Given the description of an element on the screen output the (x, y) to click on. 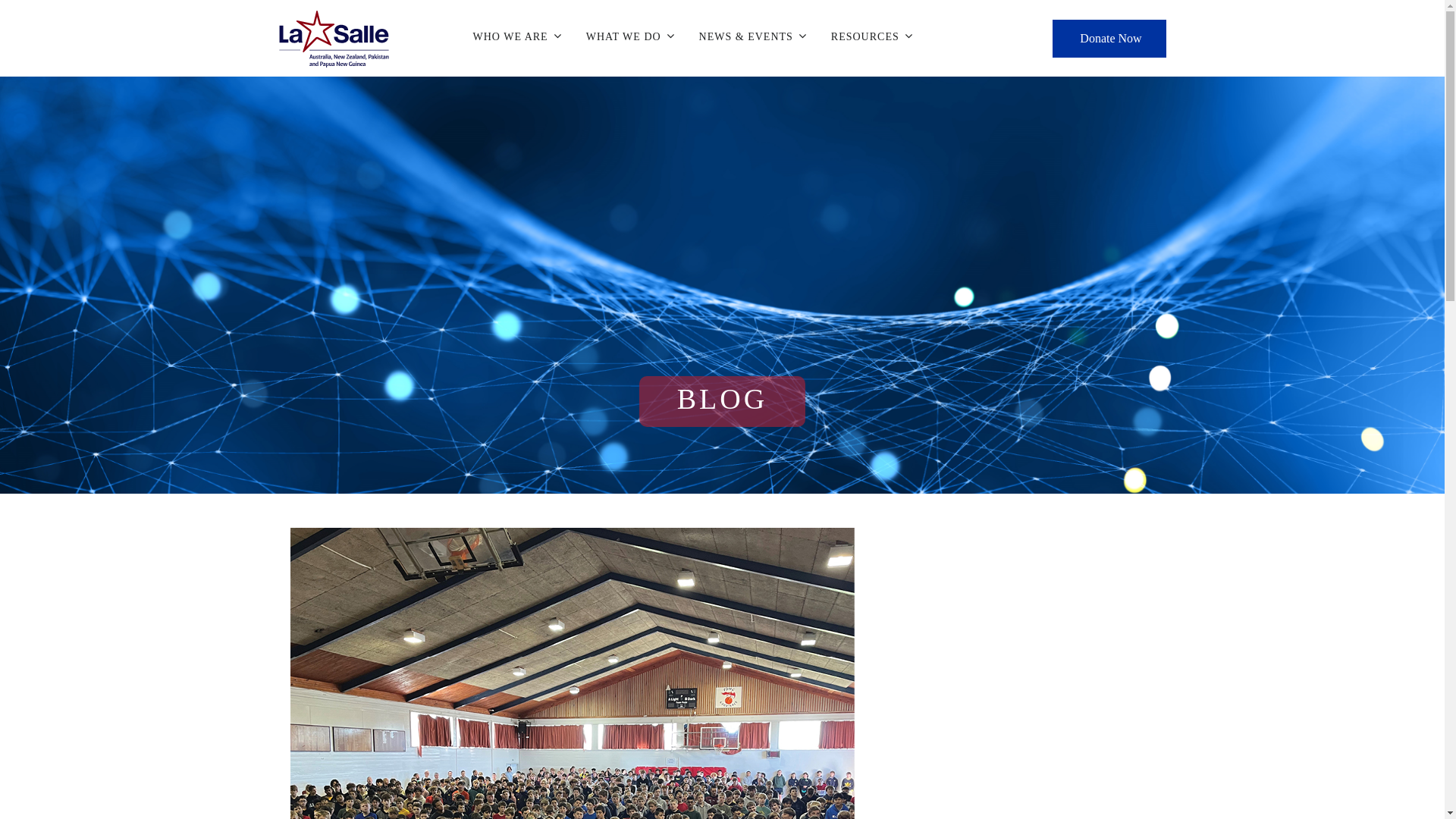
RESOURCES Element type: text (871, 33)
Donate Now Element type: text (1109, 38)
Skip to main content Element type: text (0, 0)
Home Element type: hover (334, 38)
WHAT WE DO Element type: text (630, 33)
WHO WE ARE Element type: text (517, 33)
NEWS & EVENTS Element type: text (752, 33)
